Given the description of an element on the screen output the (x, y) to click on. 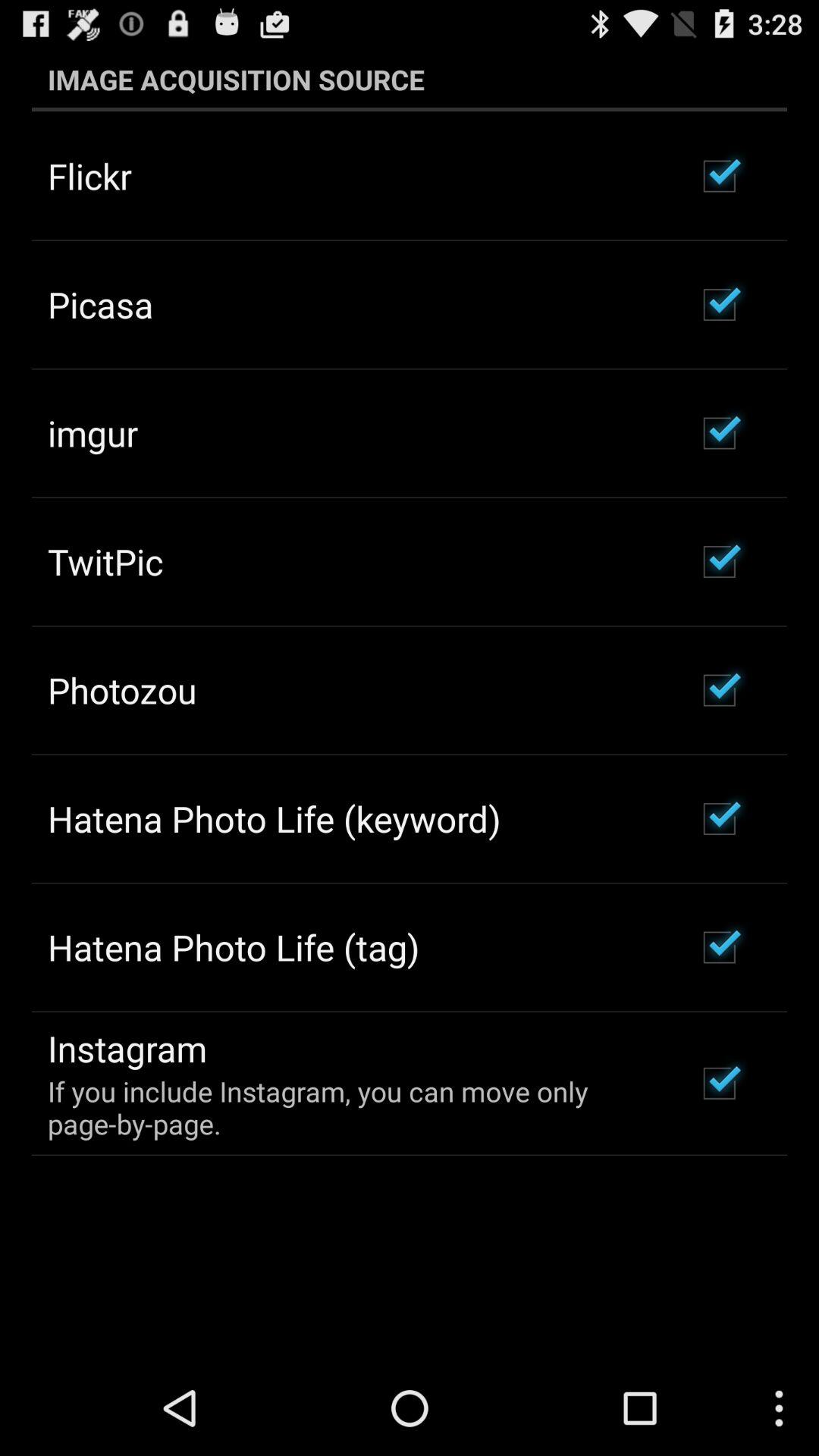
swipe to photozou item (121, 690)
